Given the description of an element on the screen output the (x, y) to click on. 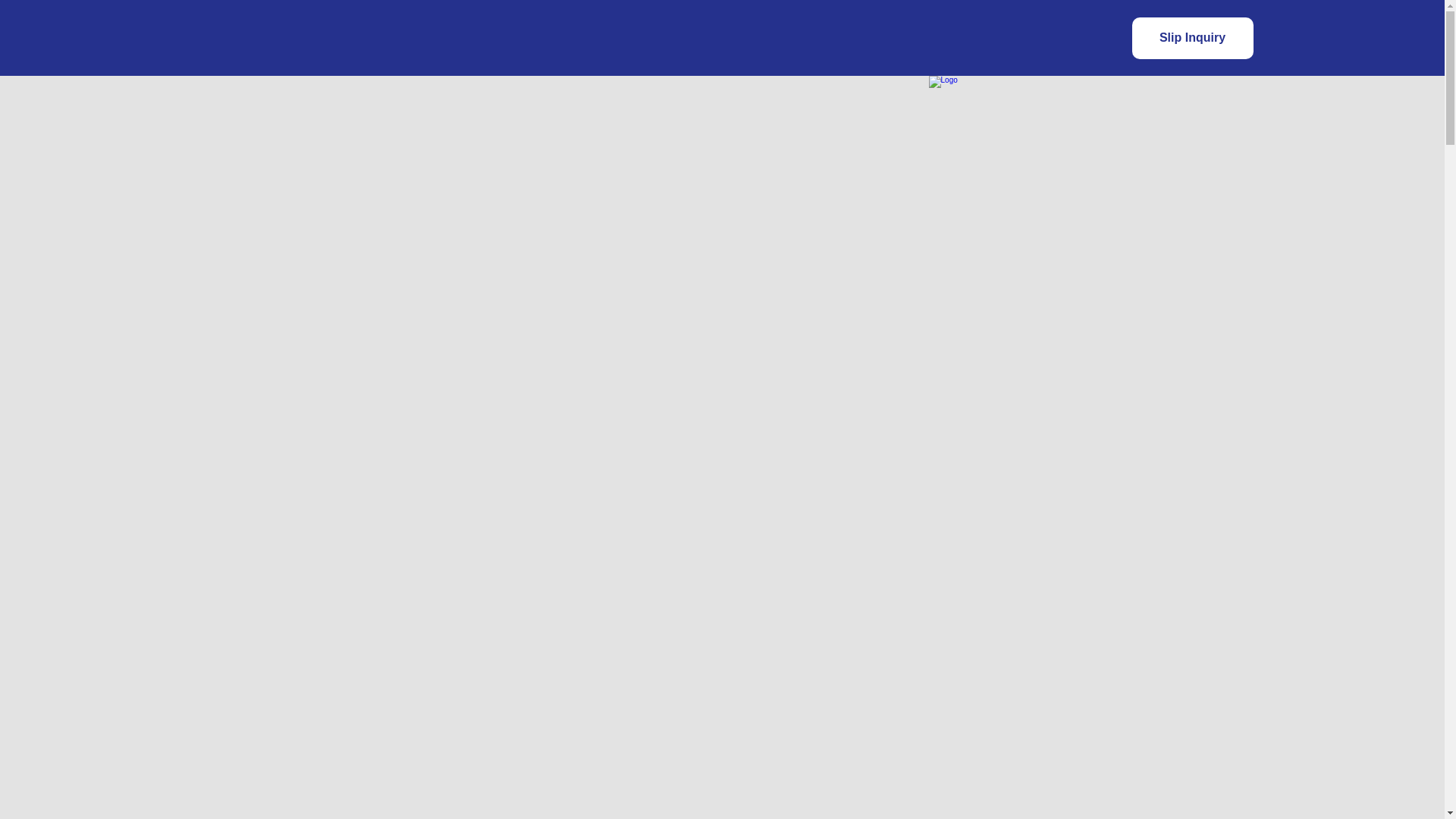
Slip Inquiry (1191, 37)
